Given the description of an element on the screen output the (x, y) to click on. 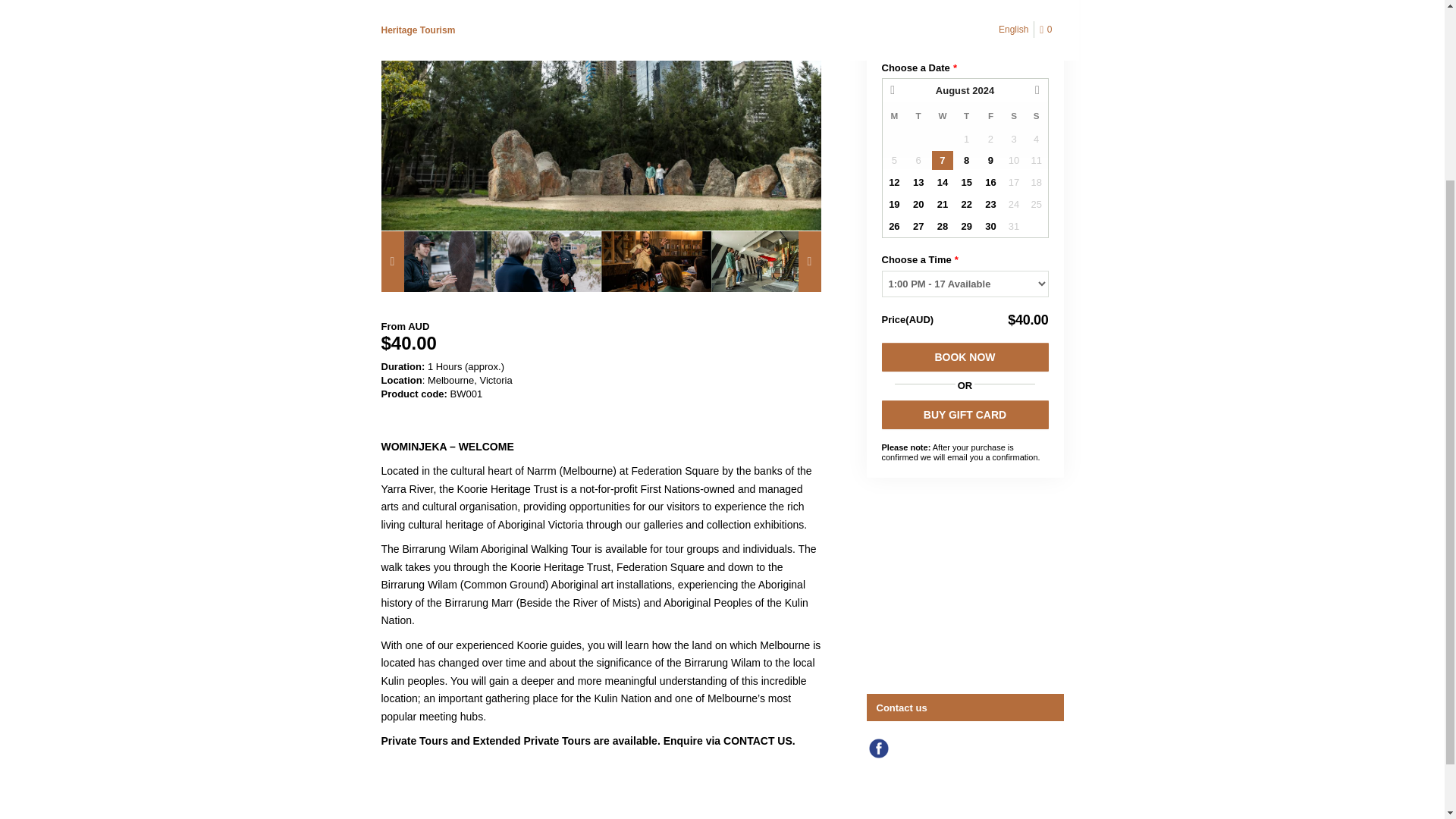
7 (942, 159)
12 (893, 181)
Not available (917, 160)
Available (966, 160)
14 (942, 181)
Available (990, 160)
Not available (1014, 138)
16 (991, 181)
21 (942, 204)
9 (991, 159)
